Given the description of an element on the screen output the (x, y) to click on. 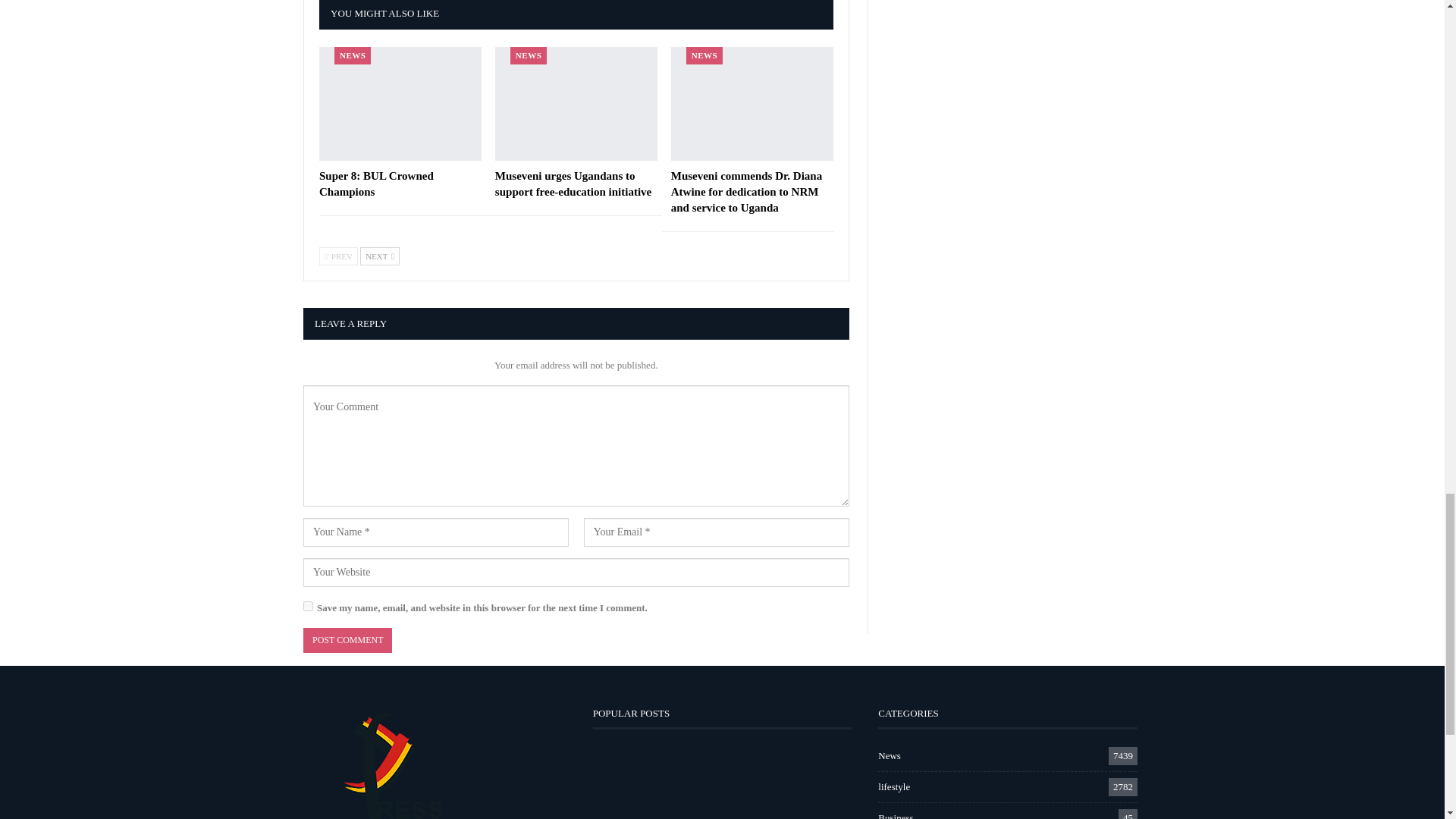
Post Comment (346, 640)
Super 8: BUL Crowned Champions (375, 183)
yes (307, 605)
Museveni urges Ugandans to support free-education initiative (572, 183)
Museveni urges Ugandans to support free-education initiative (576, 103)
Super 8: BUL Crowned Champions (399, 103)
